Given the description of an element on the screen output the (x, y) to click on. 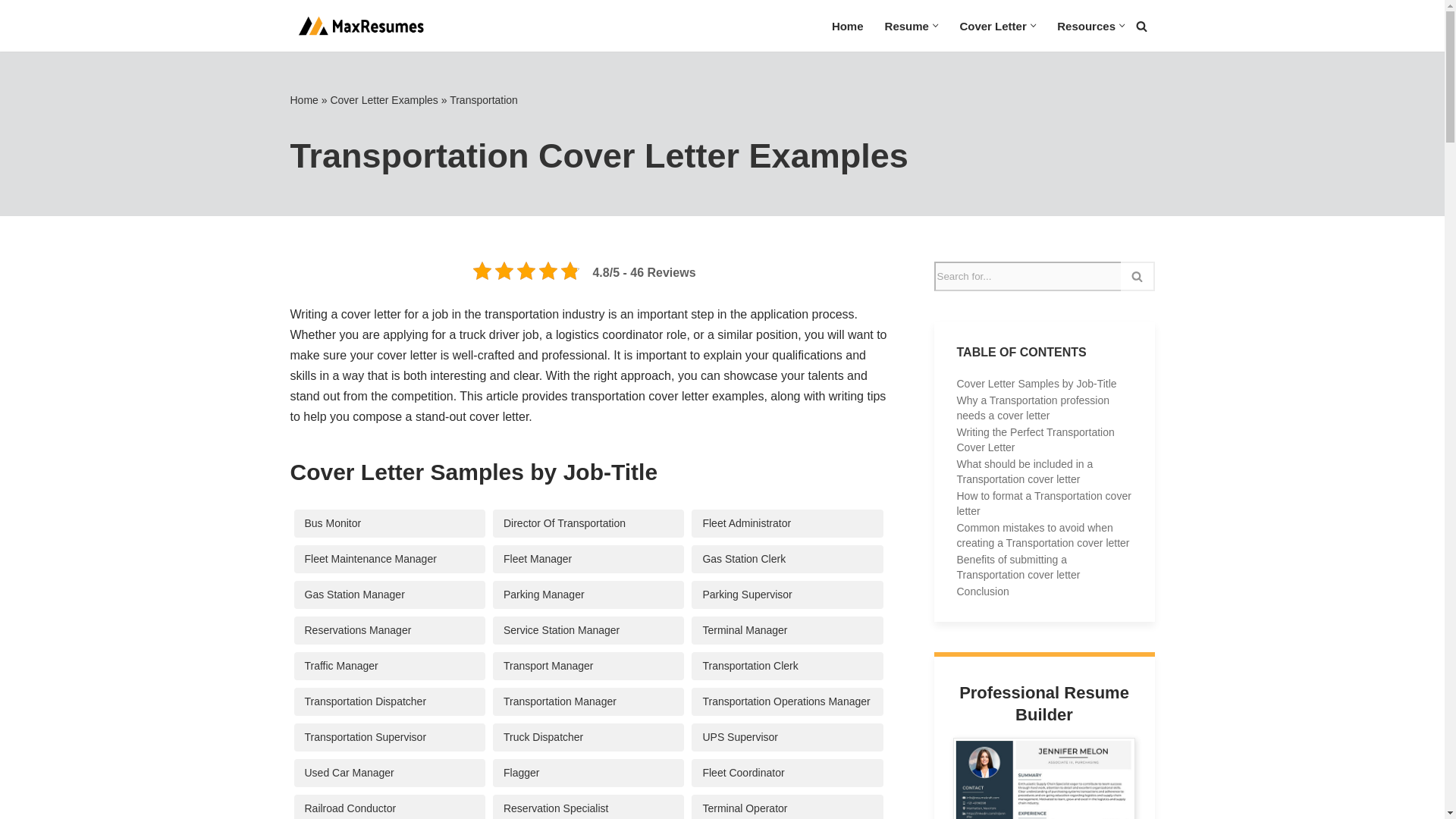
Home (847, 26)
Resources (1086, 26)
Resume (906, 26)
Cover Letter (992, 26)
MaxResumes (357, 25)
Skip to content (11, 31)
